Given the description of an element on the screen output the (x, y) to click on. 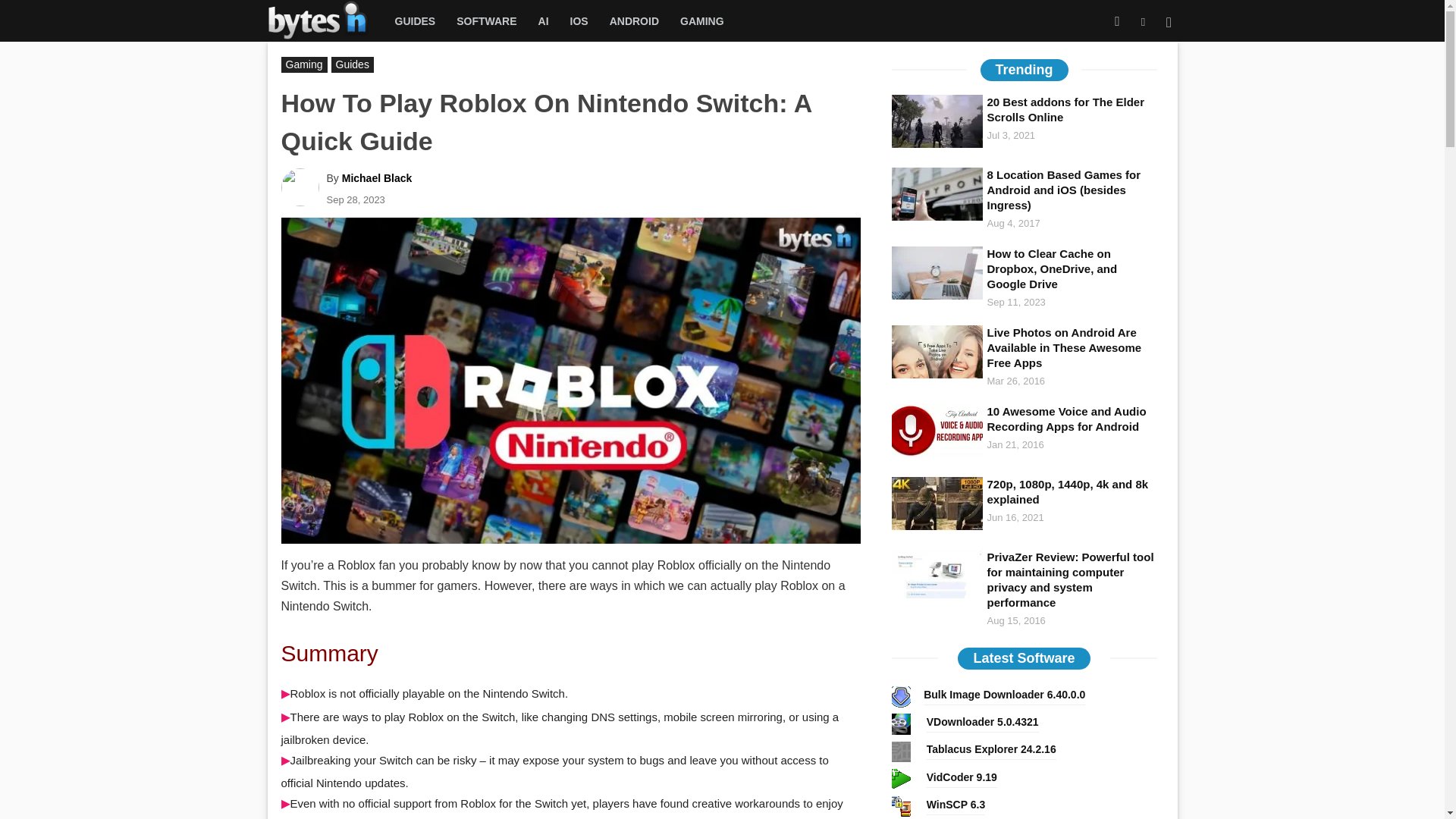
GUIDES (414, 20)
Gaming (303, 64)
Search (1134, 87)
Guides (352, 64)
BytesIn (325, 19)
Follow us on Facebook (1117, 21)
Follow us on Twitter (1142, 21)
GAMING (702, 20)
Michael Black (377, 177)
